Given the description of an element on the screen output the (x, y) to click on. 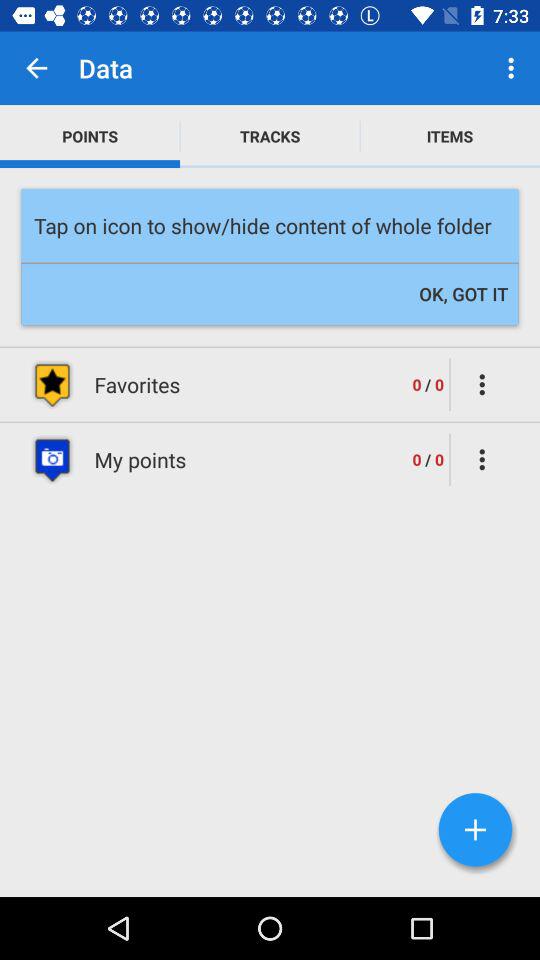
turn on the icon to the right of tracks icon (450, 136)
